Given the description of an element on the screen output the (x, y) to click on. 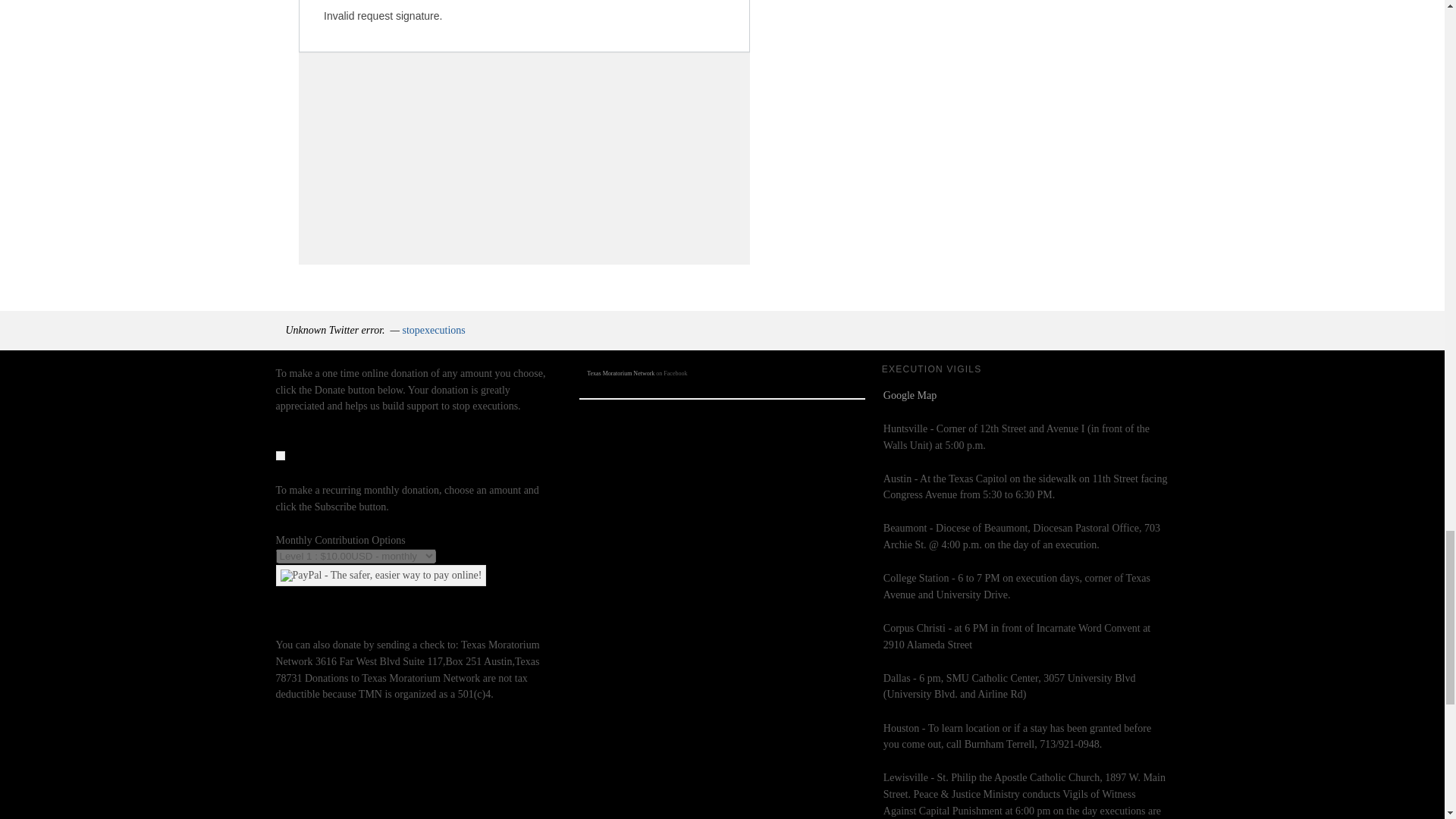
Comment Form (523, 132)
Google Map (909, 395)
Texas Moratorium Network (619, 373)
stopexecutions (434, 329)
